Given the description of an element on the screen output the (x, y) to click on. 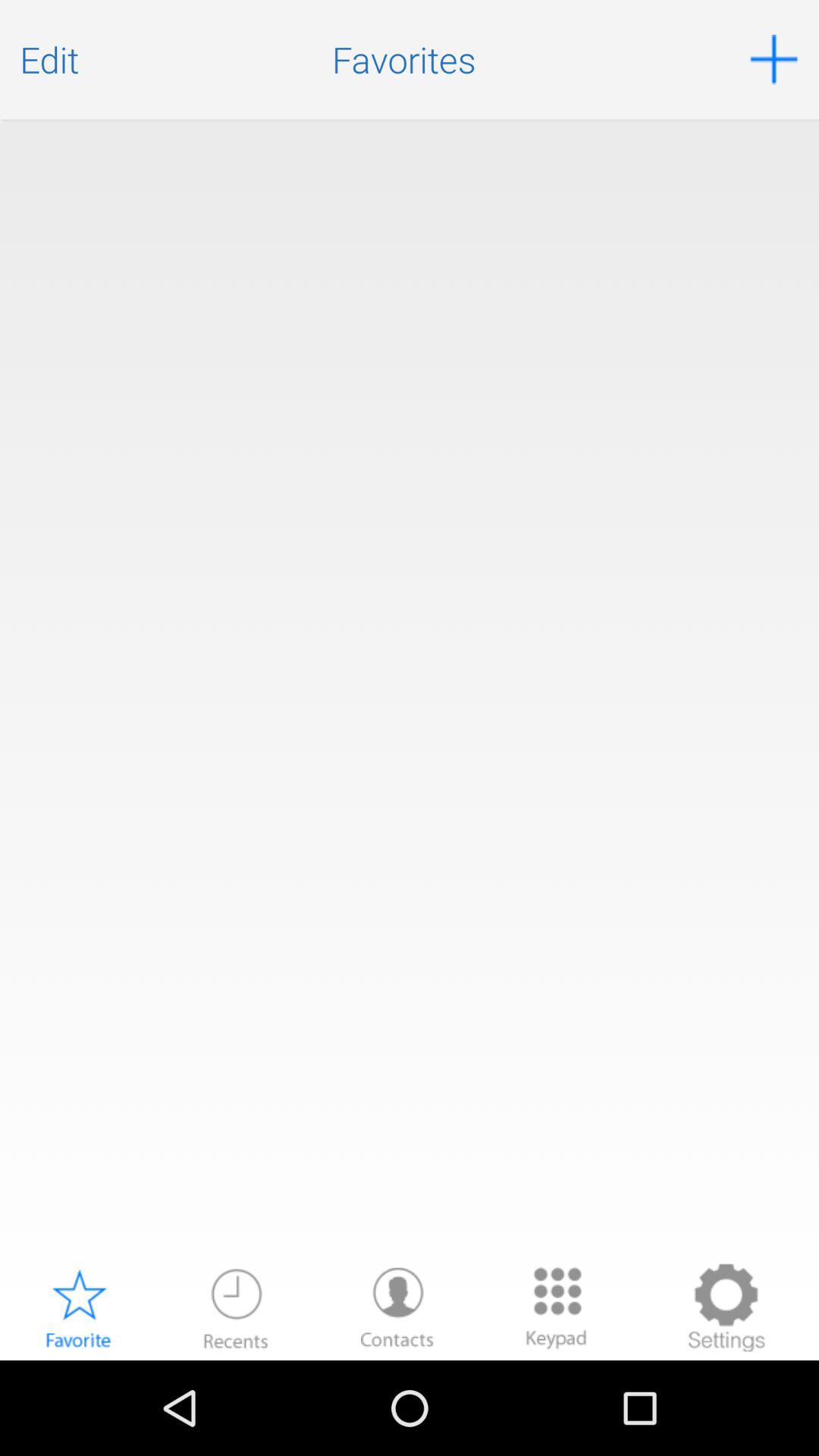
click on person for contacts (397, 1307)
